Given the description of an element on the screen output the (x, y) to click on. 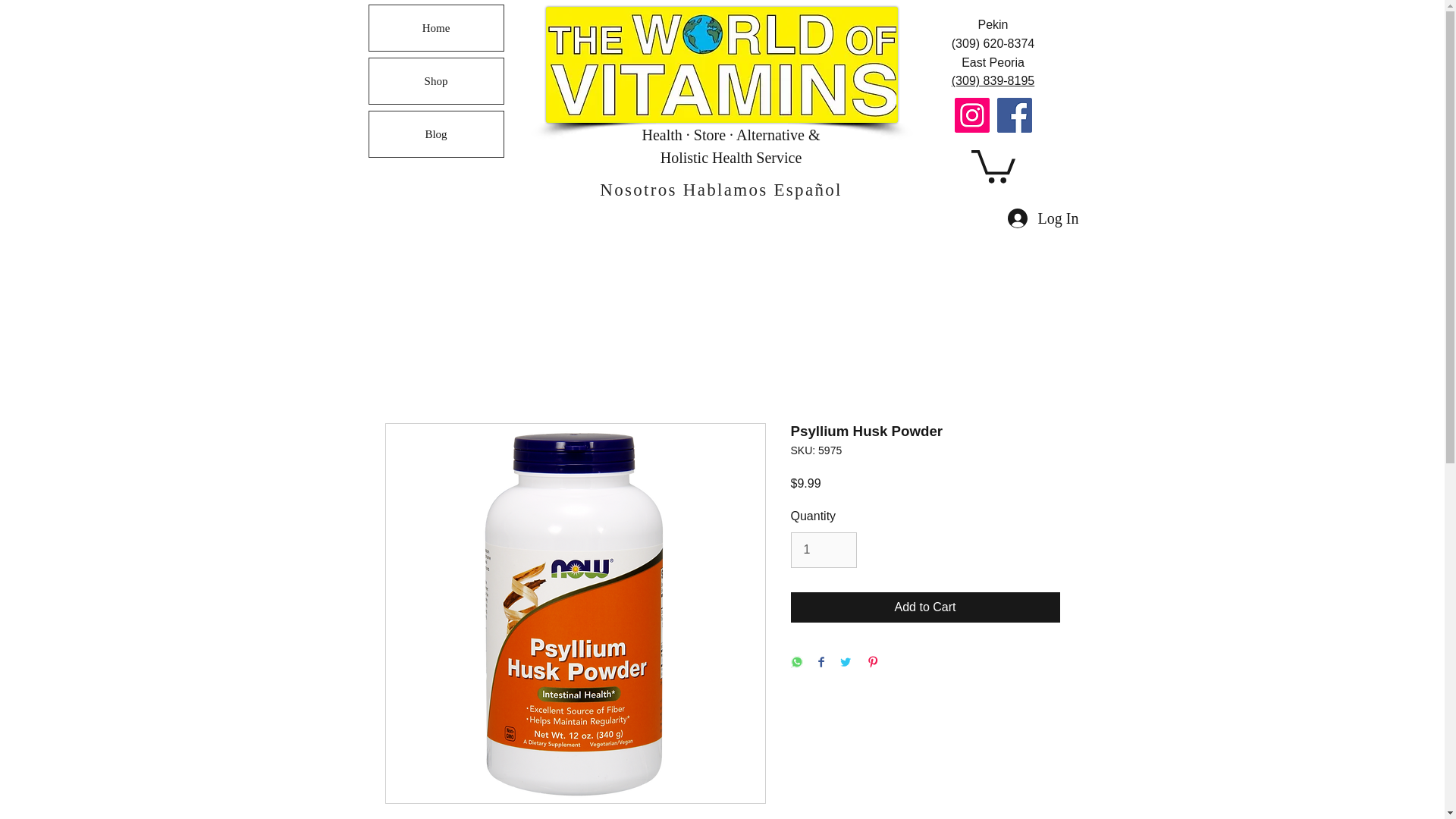
Home (435, 27)
1 (823, 549)
Shop (435, 81)
Blog (435, 134)
Log In (1043, 218)
Add to Cart (924, 607)
